Given the description of an element on the screen output the (x, y) to click on. 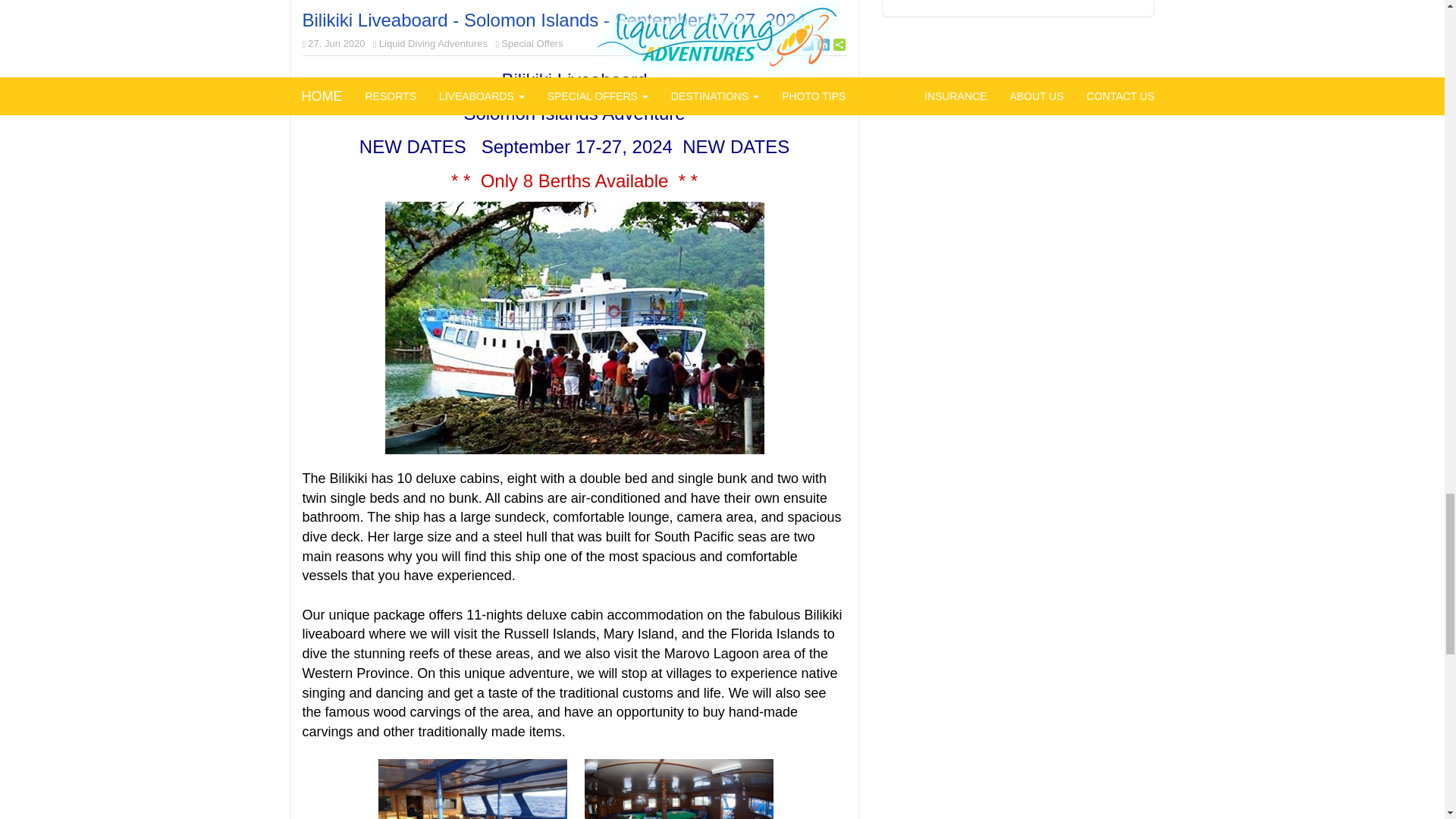
Liquid Diving Adventures (432, 43)
Special Offers (531, 43)
